Given the description of an element on the screen output the (x, y) to click on. 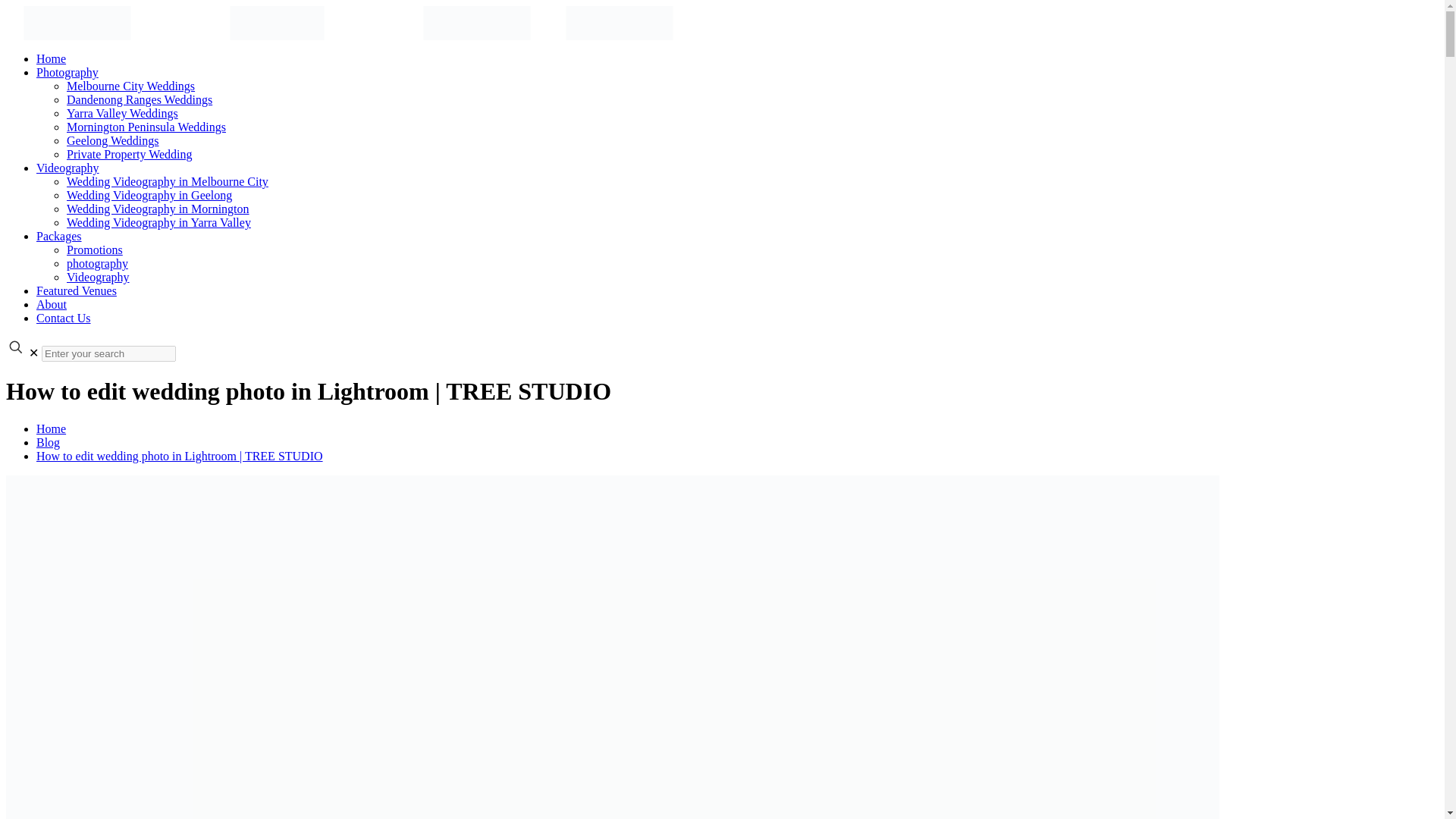
Dandenong Ranges Weddings (139, 99)
Packages (58, 236)
Wedding Videography in Yarra Valley (158, 222)
Home (50, 58)
Tree Studio (347, 21)
Videography (67, 167)
Geelong Weddings (112, 140)
Home (50, 428)
Mornington Peninsula Weddings (145, 126)
Contact Us (63, 318)
